Given the description of an element on the screen output the (x, y) to click on. 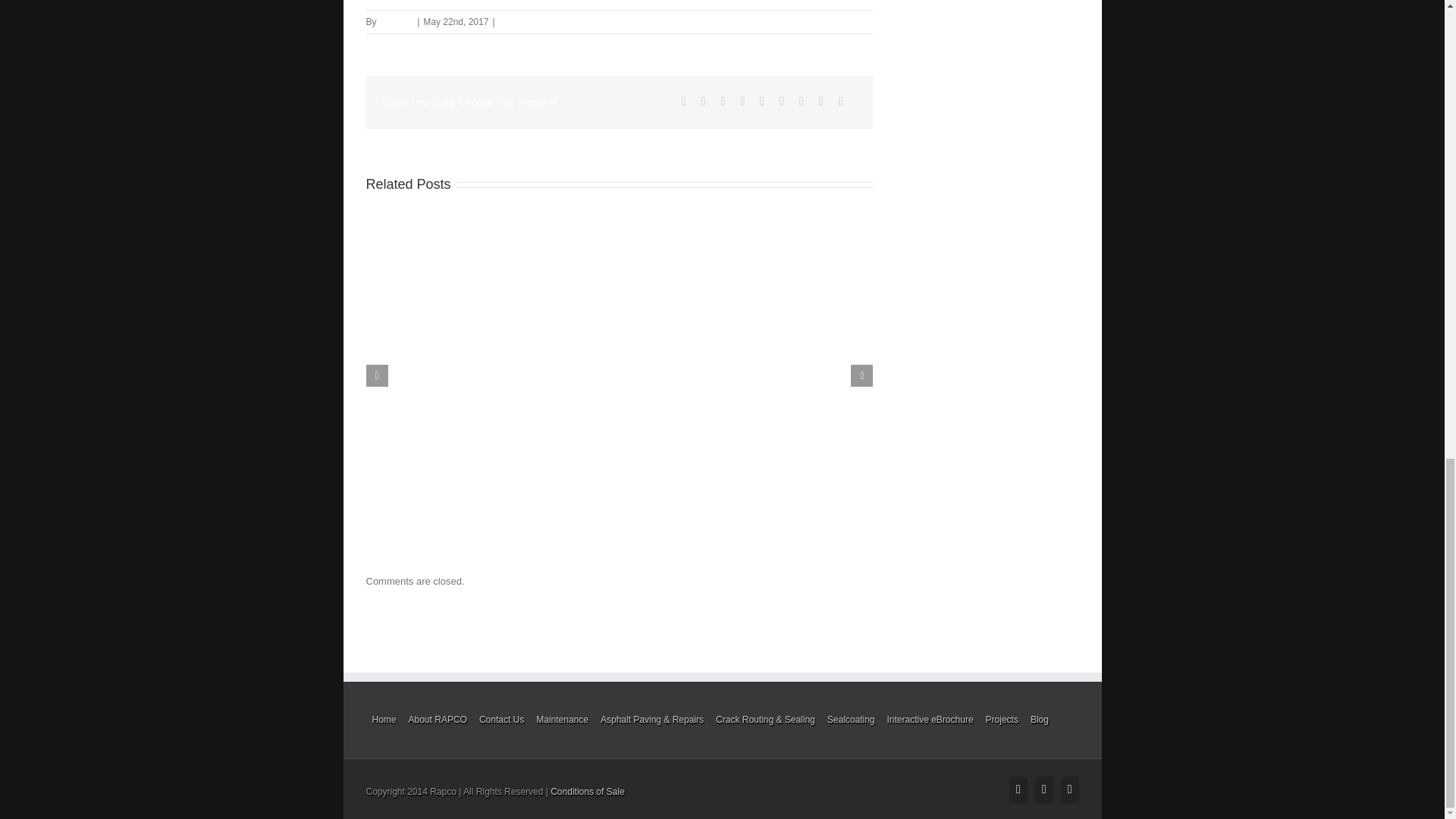
0 Comments (524, 21)
Posts by Billy Luu (395, 21)
Billy Luu (395, 21)
